Given the description of an element on the screen output the (x, y) to click on. 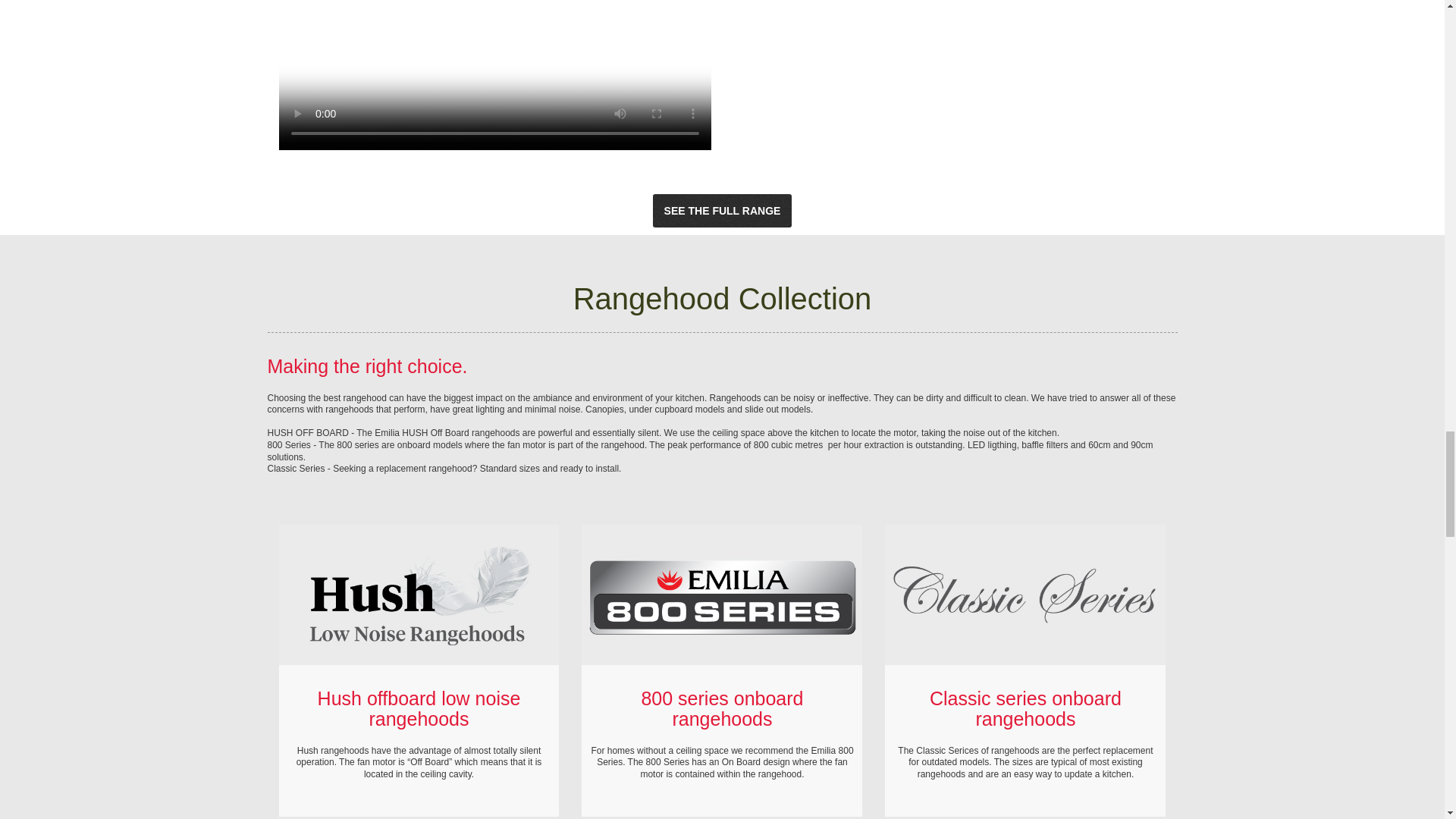
SEE THE FULL RANGE (722, 210)
